Given the description of an element on the screen output the (x, y) to click on. 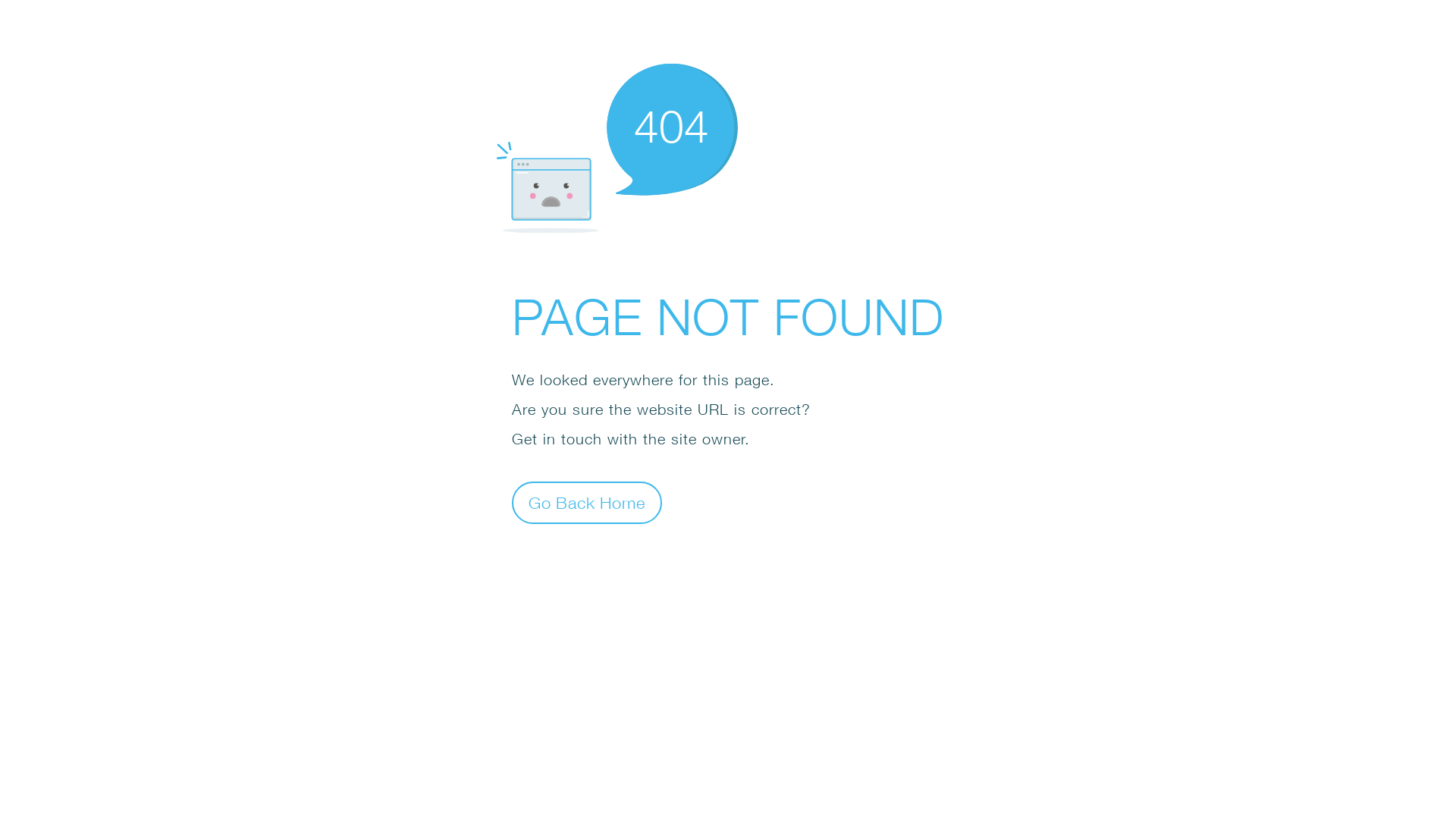
Go Back Home Element type: text (586, 502)
